Given the description of an element on the screen output the (x, y) to click on. 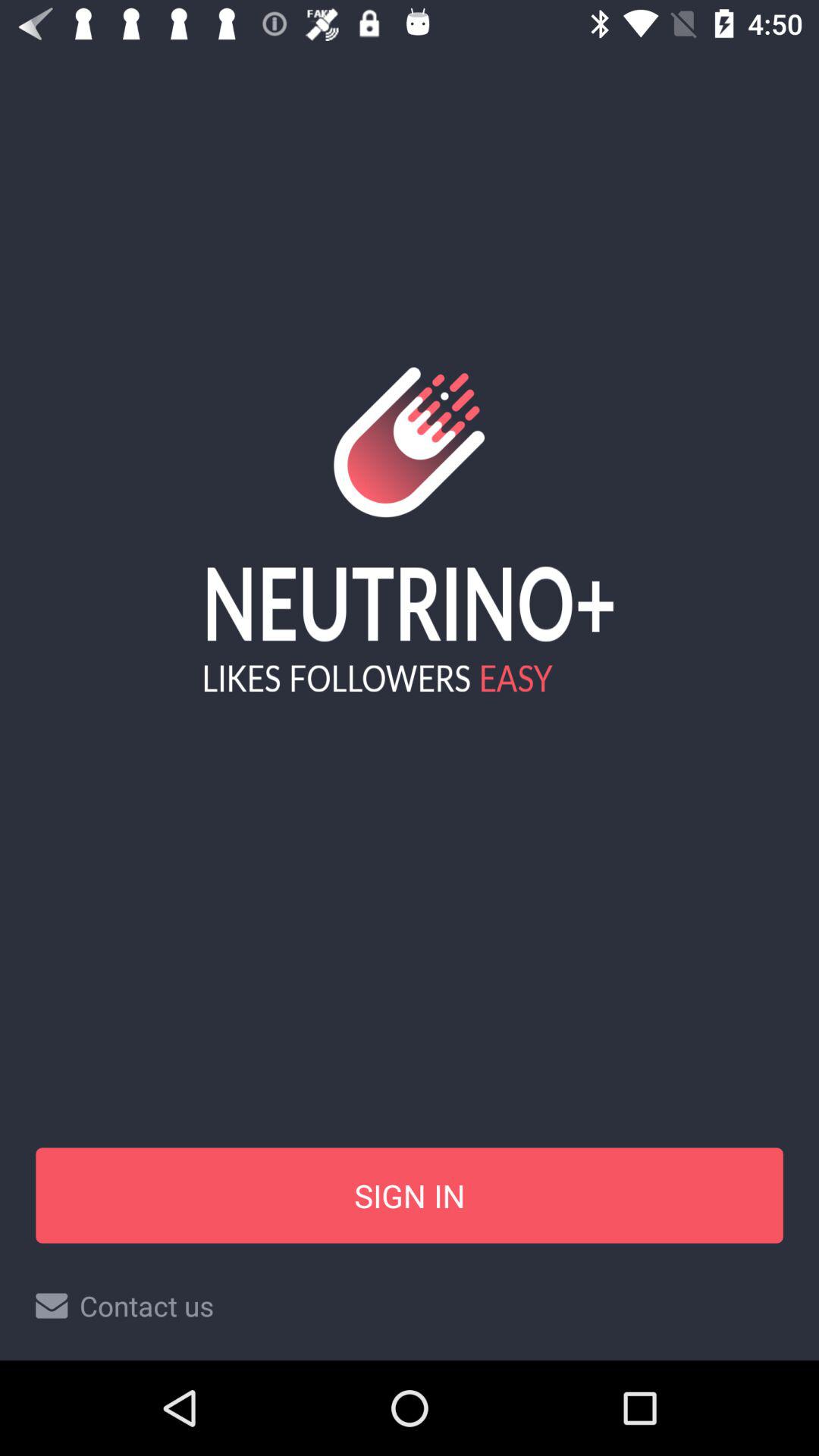
press the contact us icon (409, 1305)
